Given the description of an element on the screen output the (x, y) to click on. 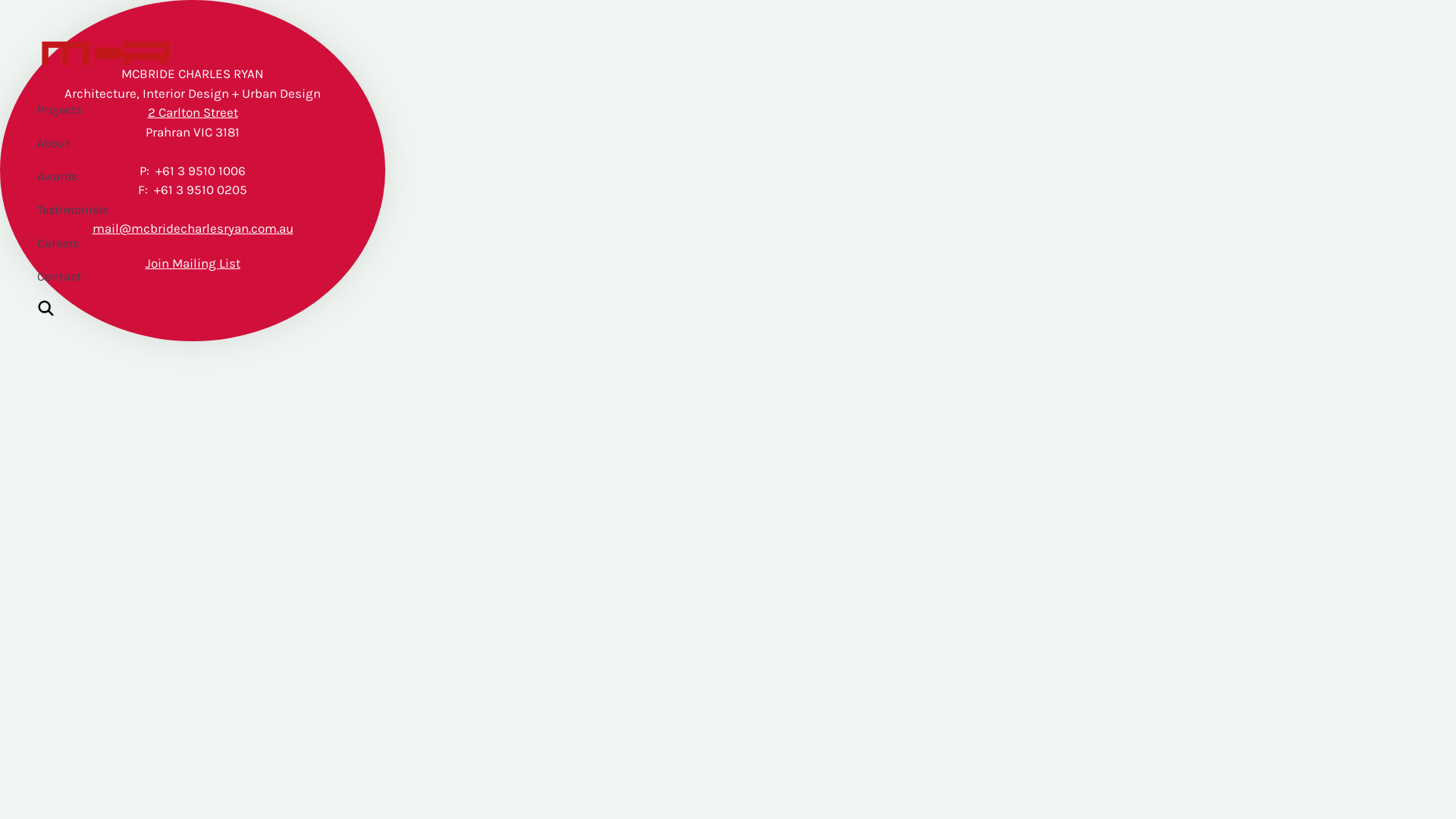
2 Carlton Street Element type: text (192, 111)
mail@mcbridecharlesryan.com.au Element type: text (192, 227)
Testimonials Element type: text (112, 209)
About Element type: text (112, 143)
Projects Element type: text (112, 109)
Contact Element type: text (112, 276)
Careers Element type: text (112, 243)
Awards Element type: text (112, 176)
